Given the description of an element on the screen output the (x, y) to click on. 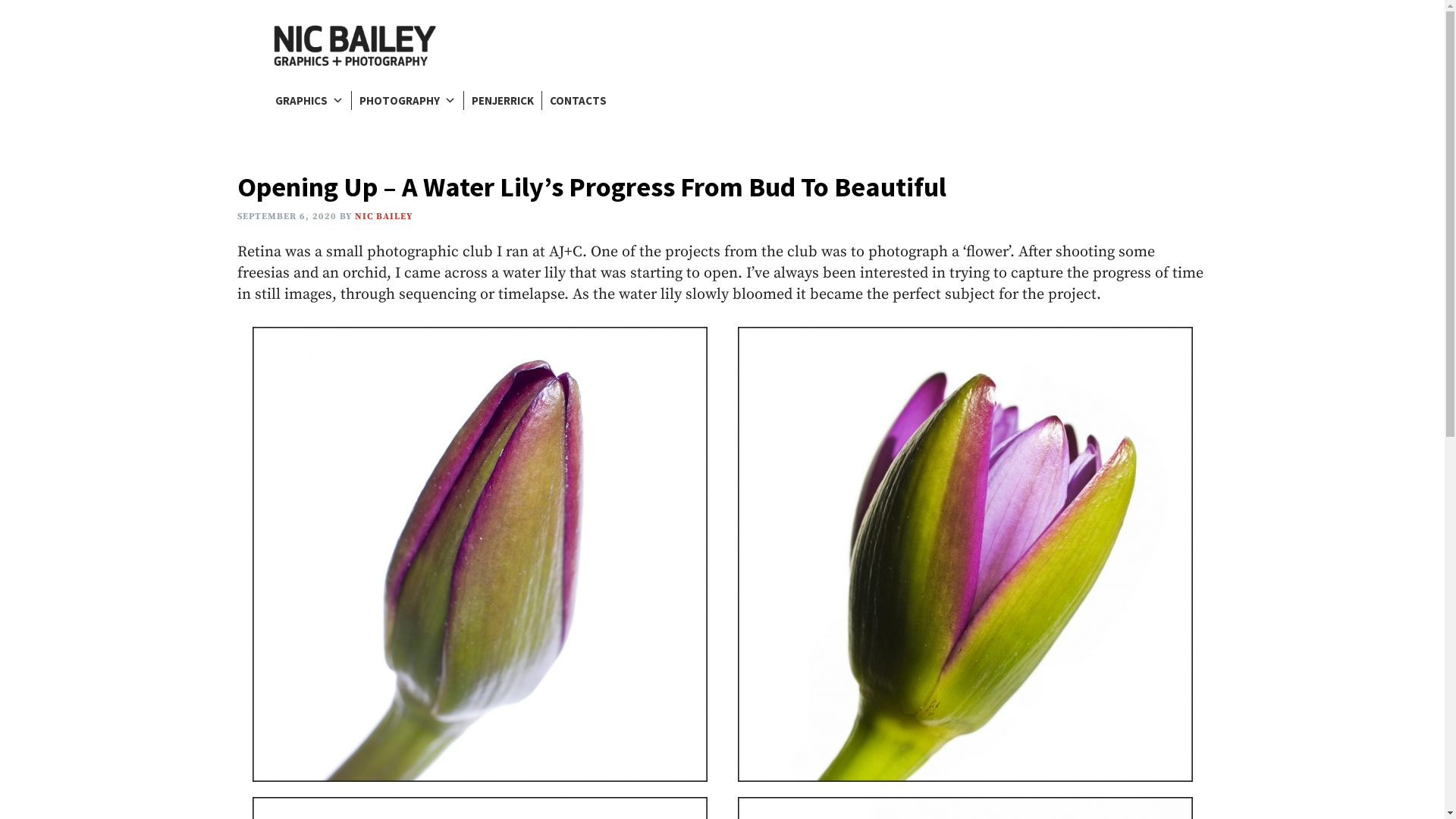
Water Lily No 1 Element type: hover (478, 553)
Nic Bailey Element type: text (354, 45)
Water Lily No 2 Element type: hover (964, 553)
CONTACTS Element type: text (577, 100)
GRAPHICS Element type: text (308, 100)
Skip to primary navigation Element type: text (0, 0)
PENJERRICK Element type: text (502, 100)
PHOTOGRAPHY Element type: text (407, 100)
NIC BAILEY Element type: text (383, 216)
Water Lily No 2 Element type: hover (964, 553)
Water Lily No 1 Element type: hover (479, 553)
